Given the description of an element on the screen output the (x, y) to click on. 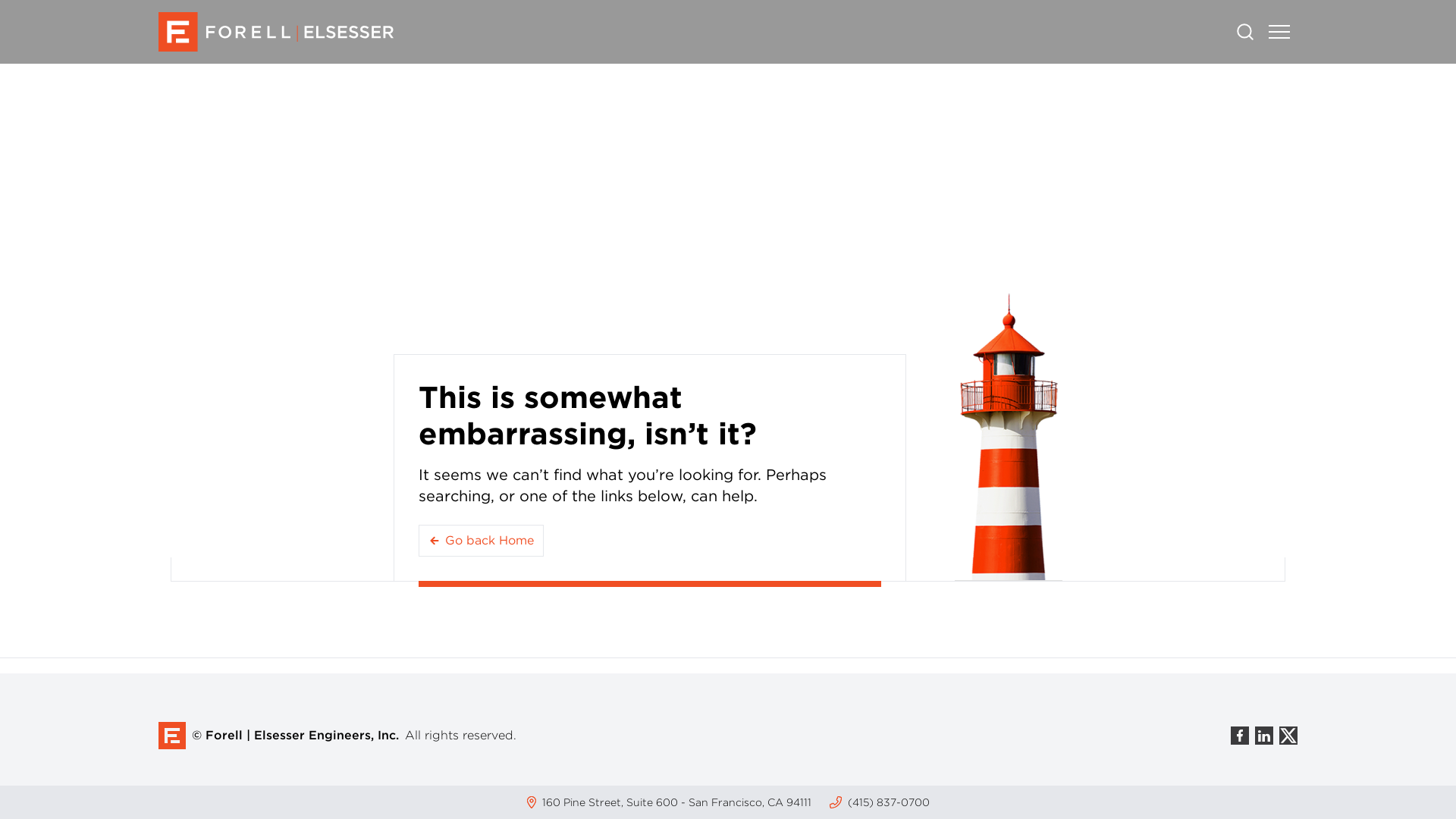
Go back Home (481, 540)
